Given the description of an element on the screen output the (x, y) to click on. 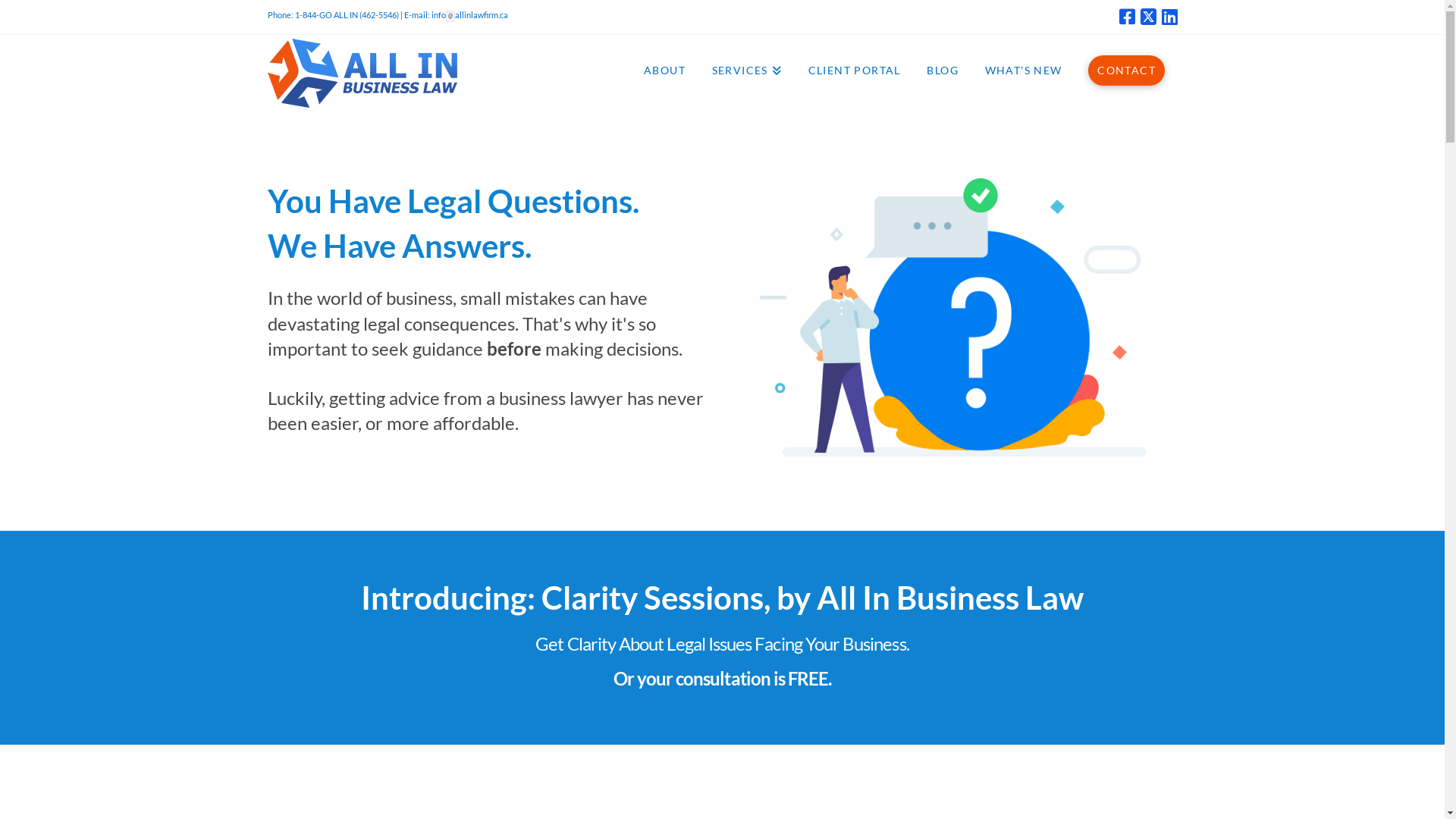
X / Twitter Element type: hover (1148, 16)
SERVICES Element type: text (746, 68)
ABOUT Element type: text (664, 68)
CLIENT PORTAL Element type: text (853, 68)
CONTACT Element type: text (1125, 68)
LinkedIn Element type: hover (1169, 16)
BLOG Element type: text (941, 68)
Facebook Element type: hover (1127, 16)
